Given the description of an element on the screen output the (x, y) to click on. 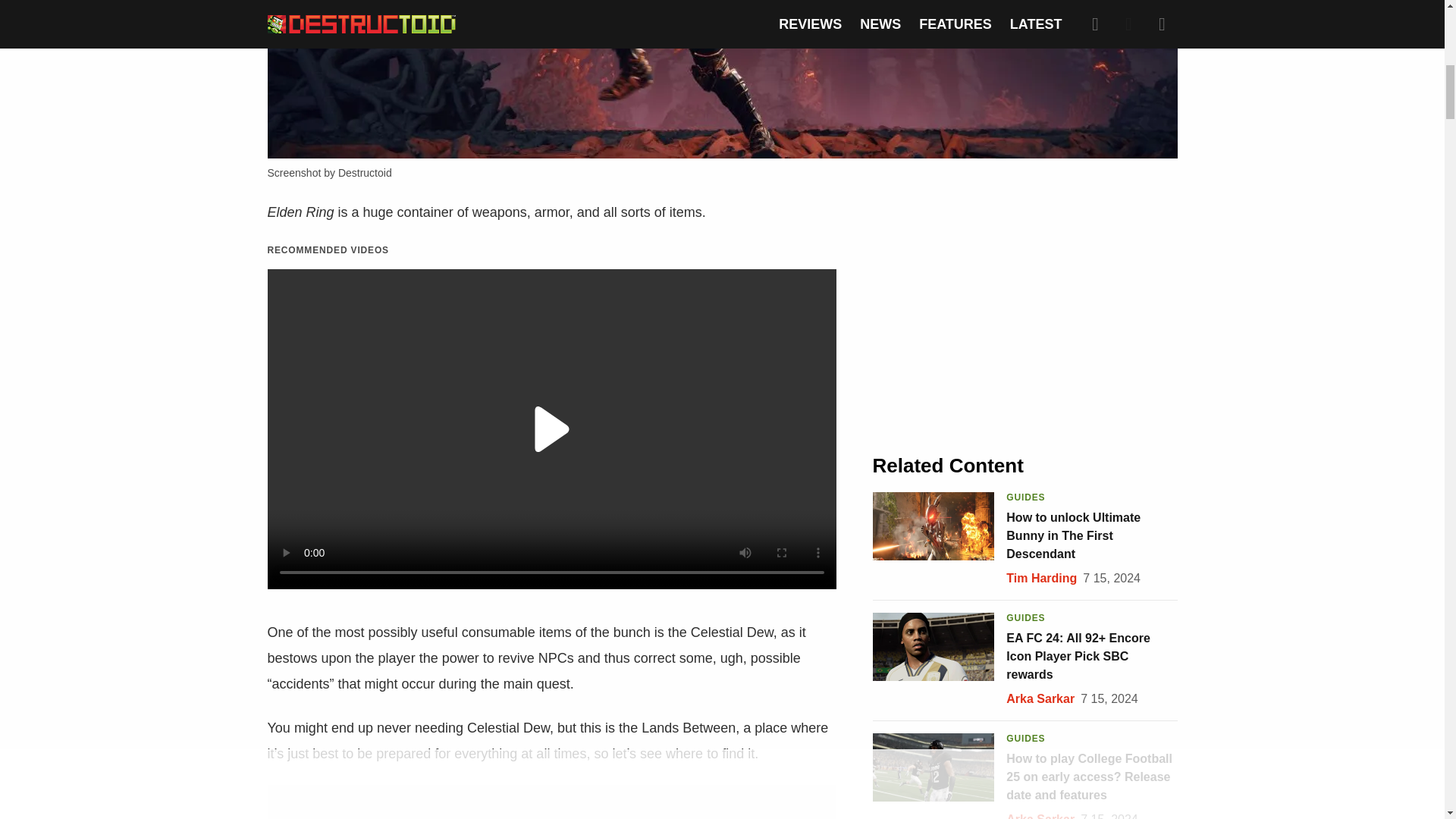
3rd party ad content (1024, 312)
